Given the description of an element on the screen output the (x, y) to click on. 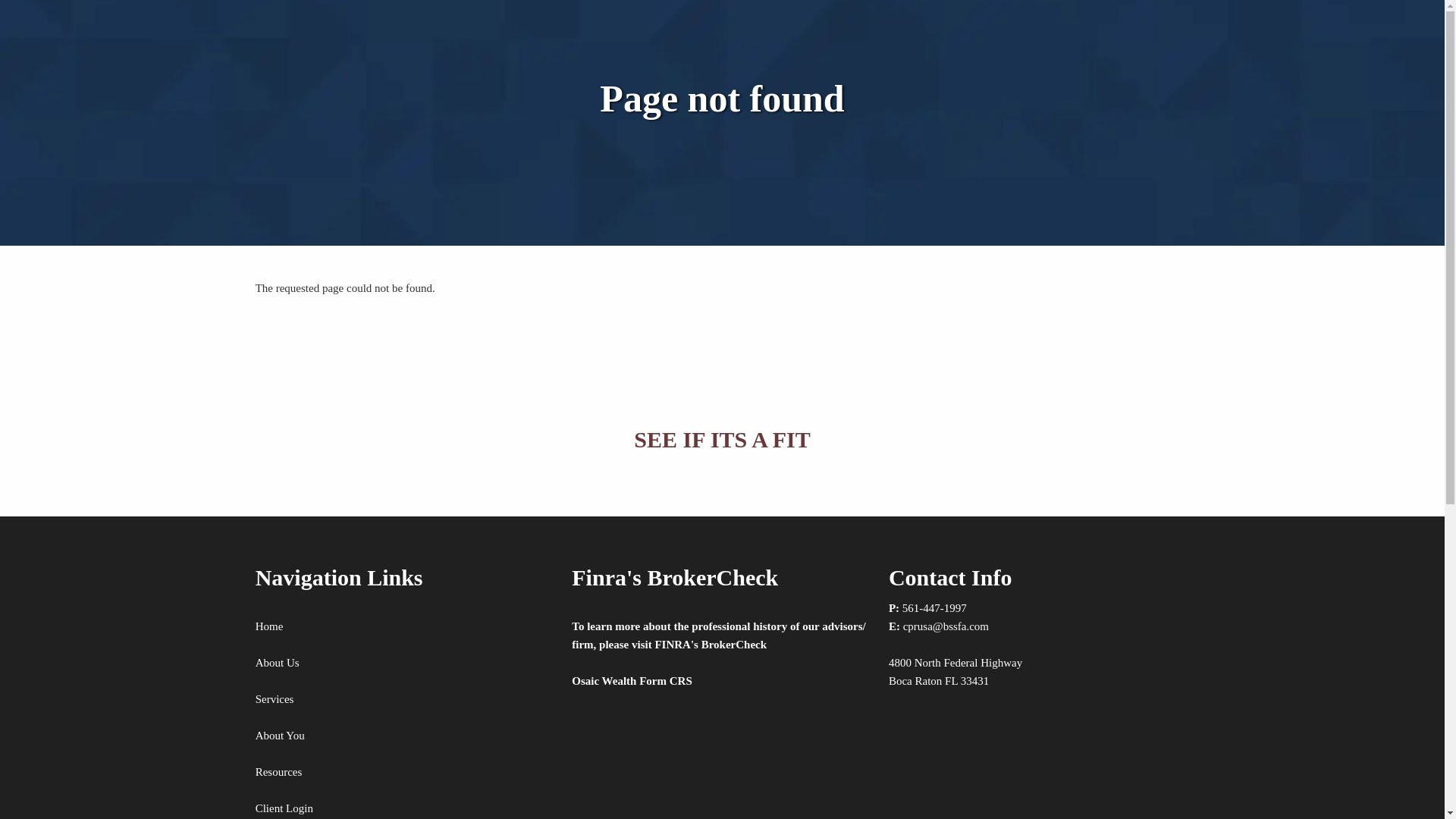
FINRA's BrokerCheck (710, 644)
Osaic Wealth Form CRS (631, 680)
Resources (279, 771)
Home (269, 625)
Services (275, 698)
Client Login (284, 808)
About You (280, 735)
About Us (277, 662)
SEE IF ITS A FIT (722, 438)
